Given the description of an element on the screen output the (x, y) to click on. 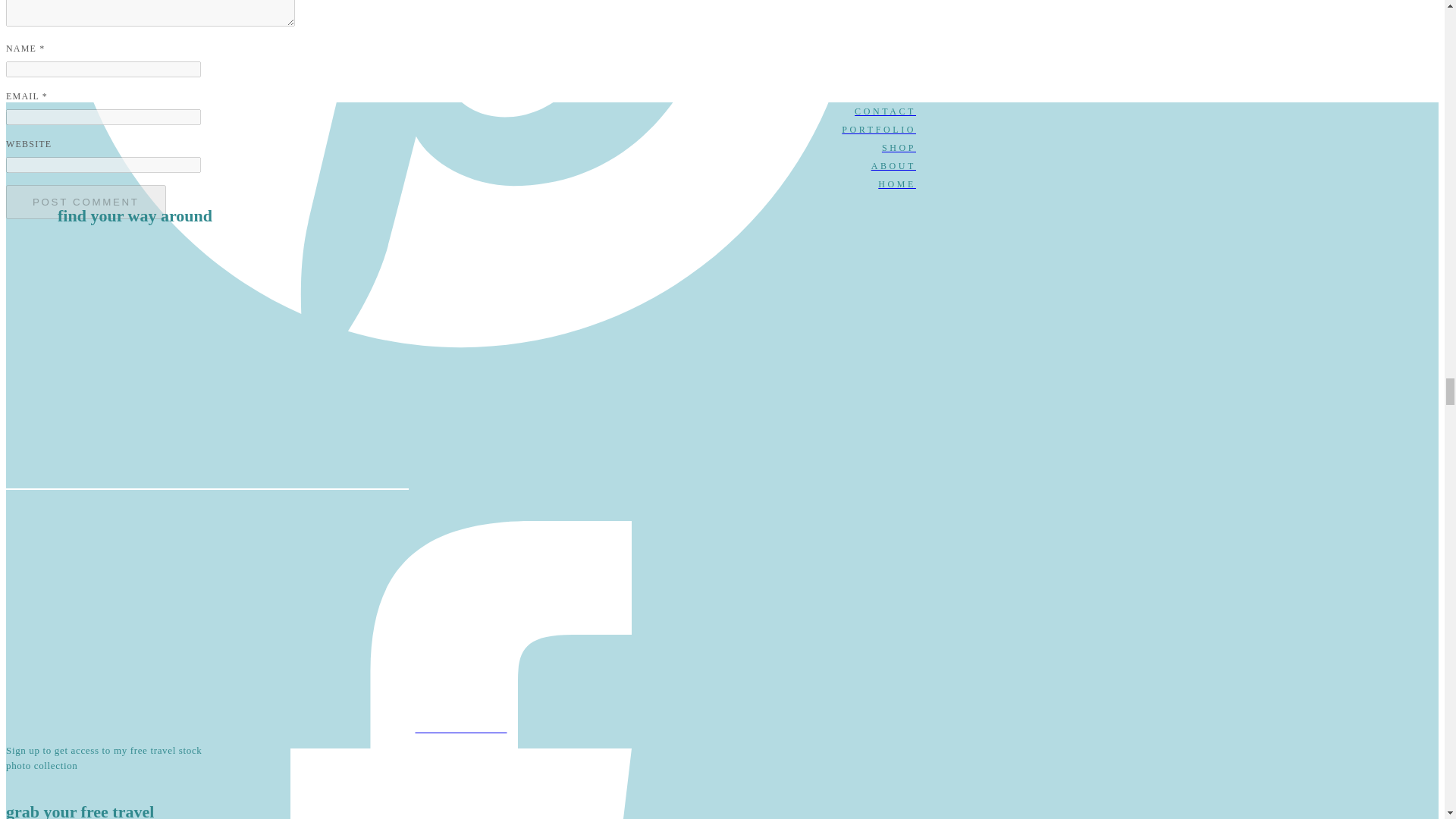
Post Comment (85, 202)
